Given the description of an element on the screen output the (x, y) to click on. 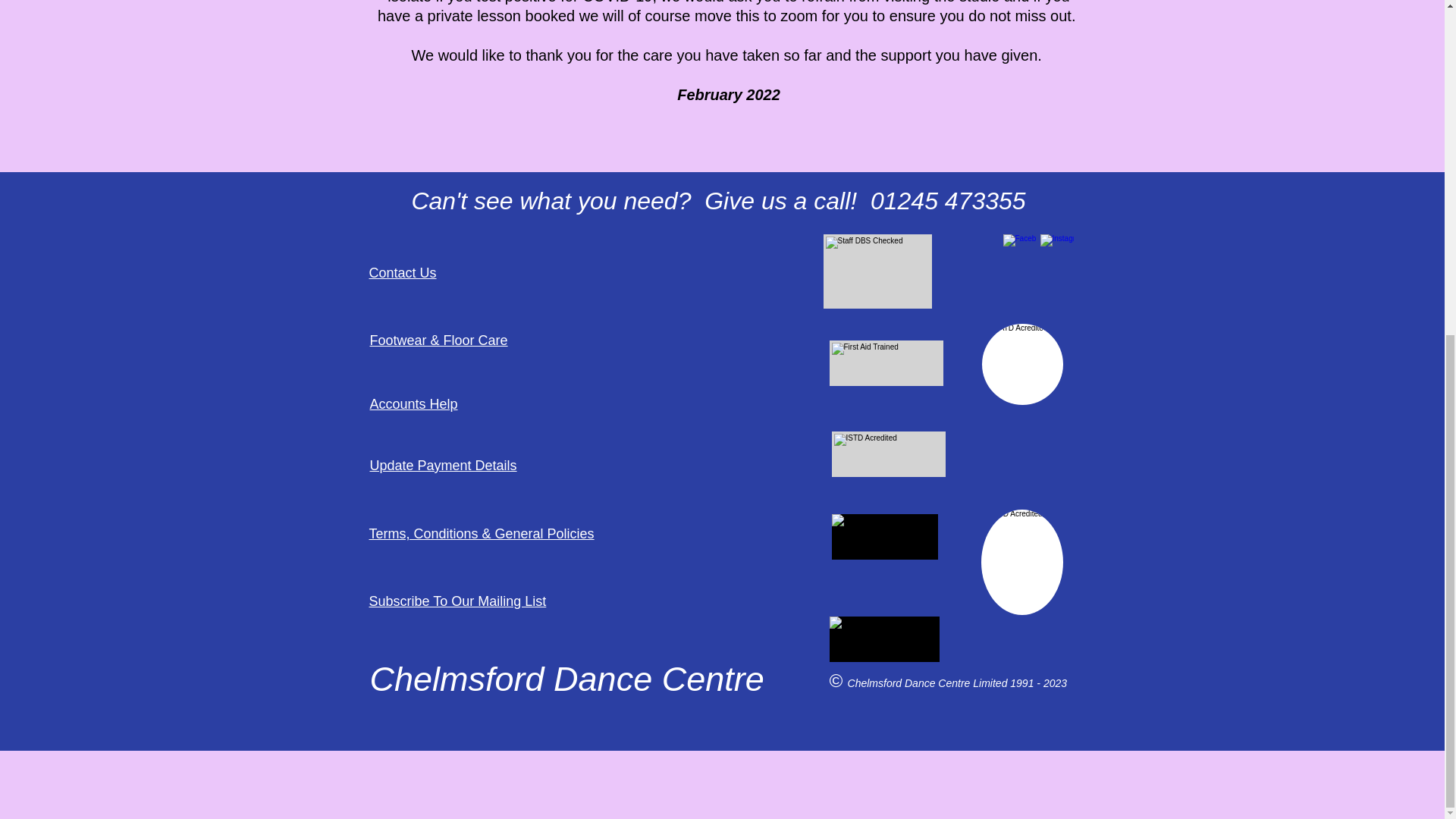
Subscribe To Our Mailing List (457, 601)
Limited 1991 - 2023 (1019, 683)
Update Payment Details (442, 465)
Chelmsford (456, 679)
Contact Us (401, 272)
Can't see what you need?  Give us a call!  01245 473355 (717, 200)
Chelmsford Dance Centre (910, 683)
Accounts Help (413, 403)
